Given the description of an element on the screen output the (x, y) to click on. 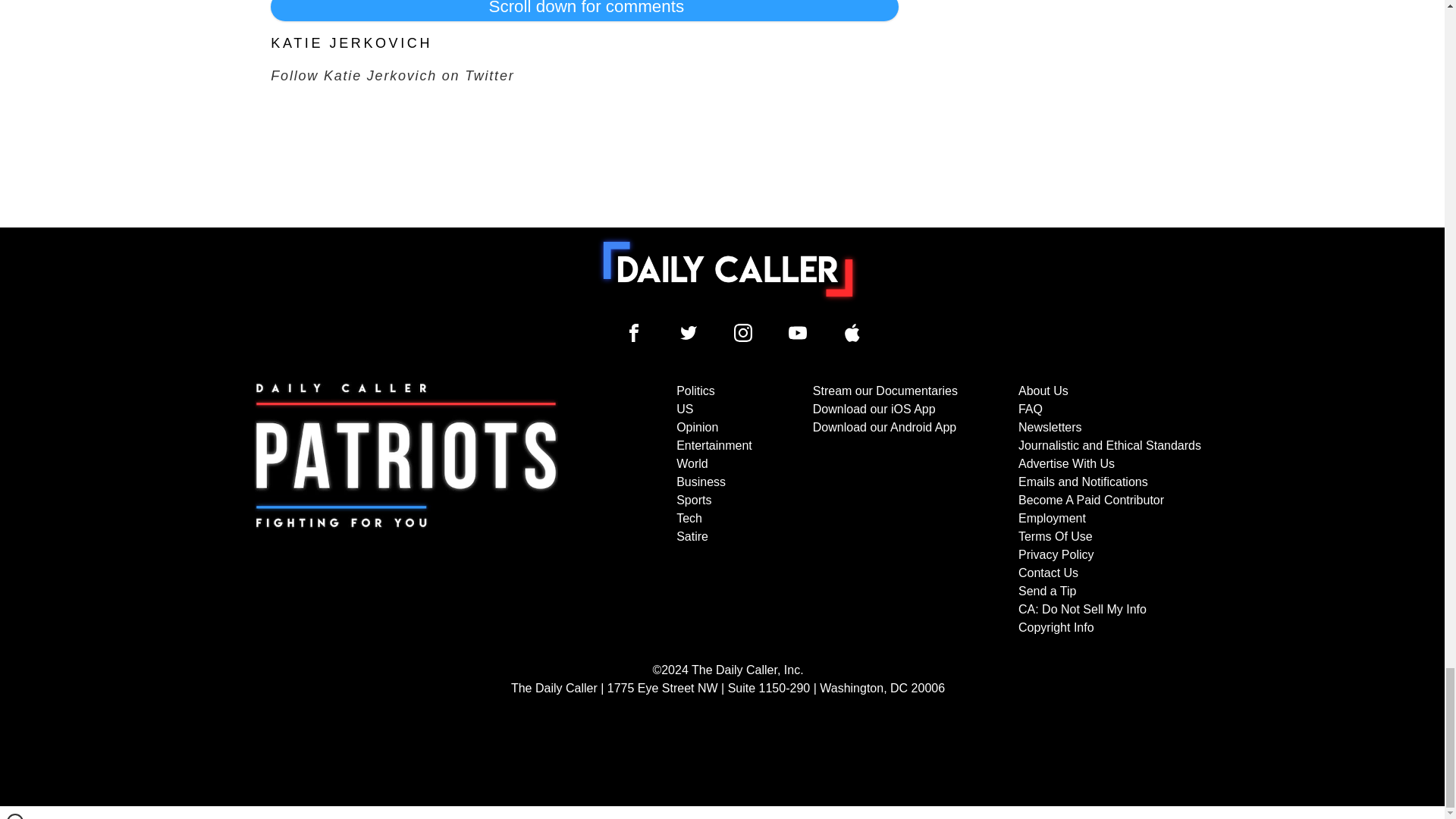
To home page (727, 268)
Daily Caller Instagram (742, 332)
Daily Caller YouTube (852, 332)
Subscribe to The Daily Caller (405, 509)
Daily Caller Twitter (688, 332)
Daily Caller YouTube (797, 332)
Daily Caller Facebook (633, 332)
Scroll down for comments (584, 10)
